Given the description of an element on the screen output the (x, y) to click on. 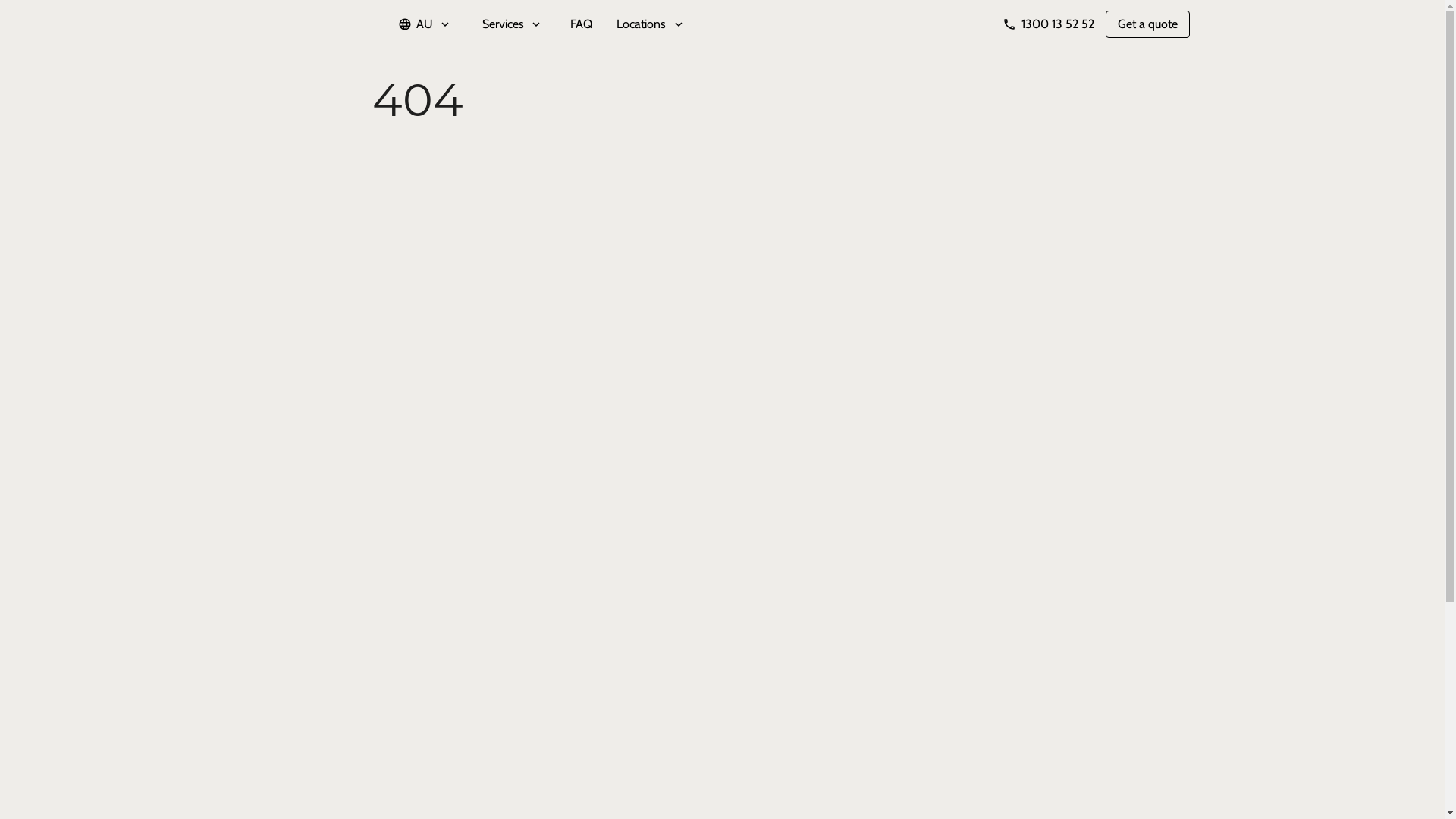
Locations Element type: text (640, 24)
 AU
  Element type: text (424, 23)
 1300 13 52 52 Element type: text (1048, 23)
FAQ Element type: text (581, 24)
Services
  Element type: text (512, 23)
Get a quote Element type: text (1147, 23)
